Given the description of an element on the screen output the (x, y) to click on. 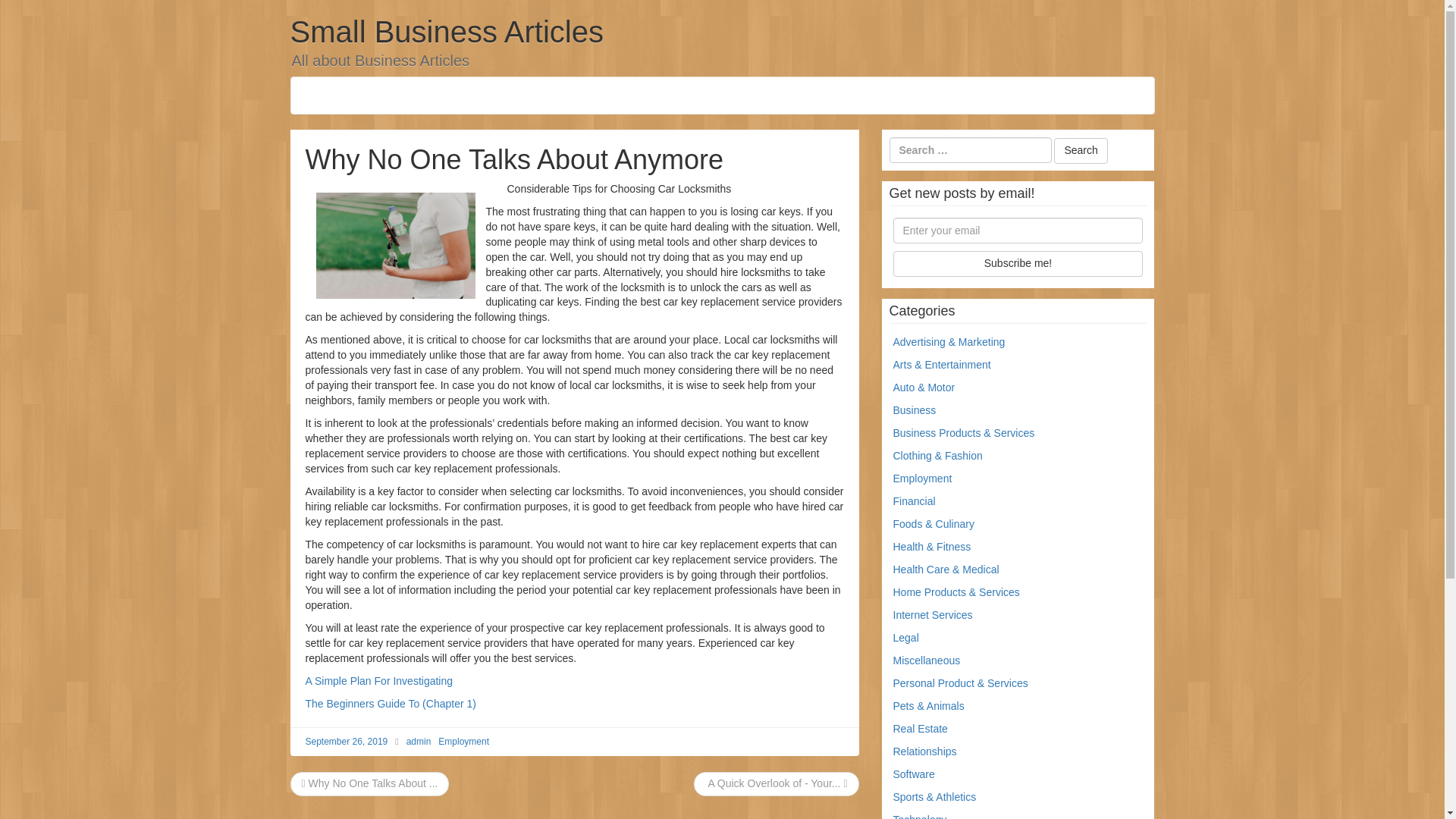
Software (913, 774)
Financial (914, 500)
admin (418, 741)
Real Estate (920, 728)
Search (1080, 150)
September 26, 2019 (345, 741)
Employment (463, 741)
Business (914, 410)
Miscellaneous (926, 660)
Subscribe me! (1017, 263)
